Given the description of an element on the screen output the (x, y) to click on. 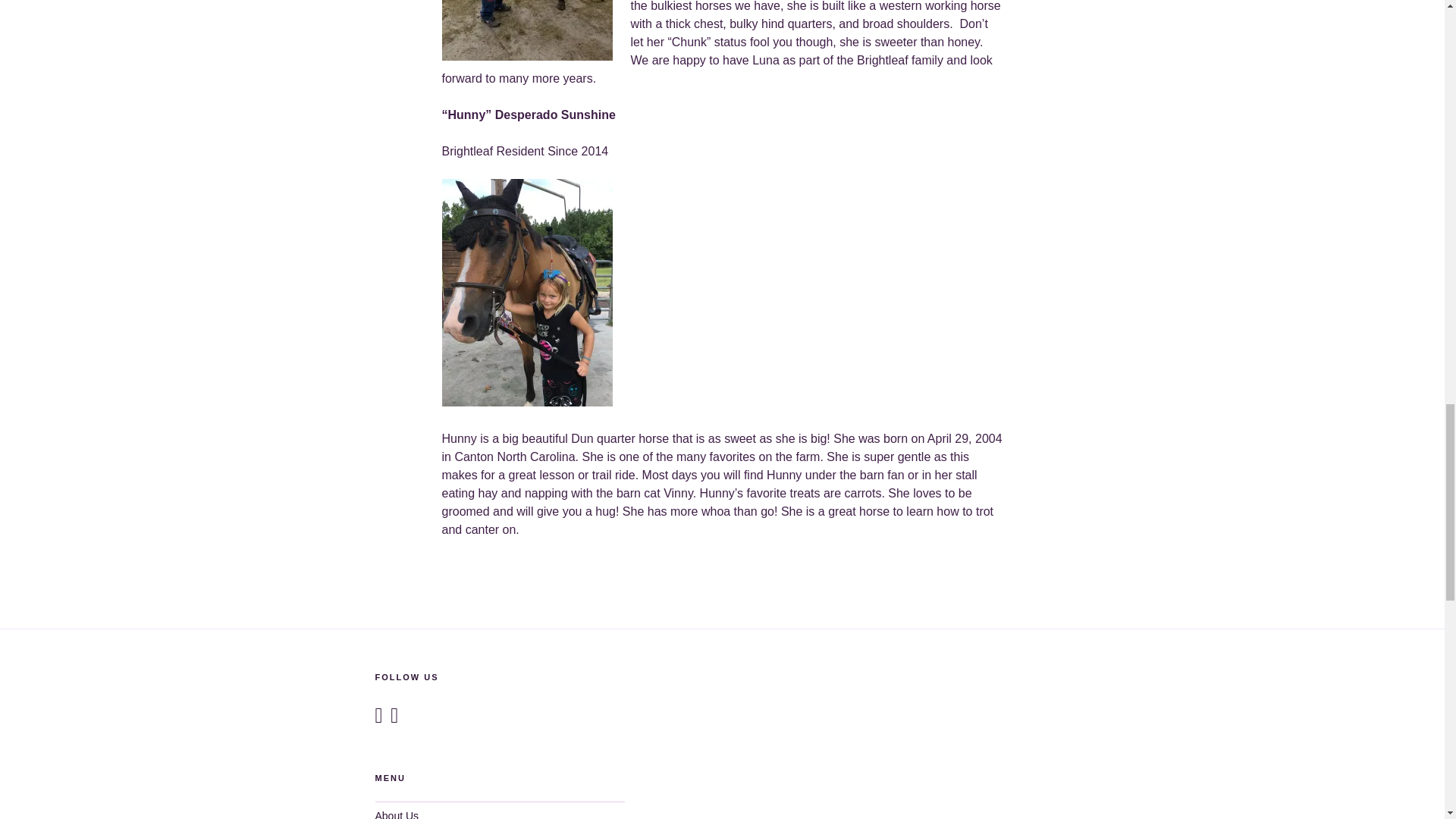
About Us (396, 814)
